Given the description of an element on the screen output the (x, y) to click on. 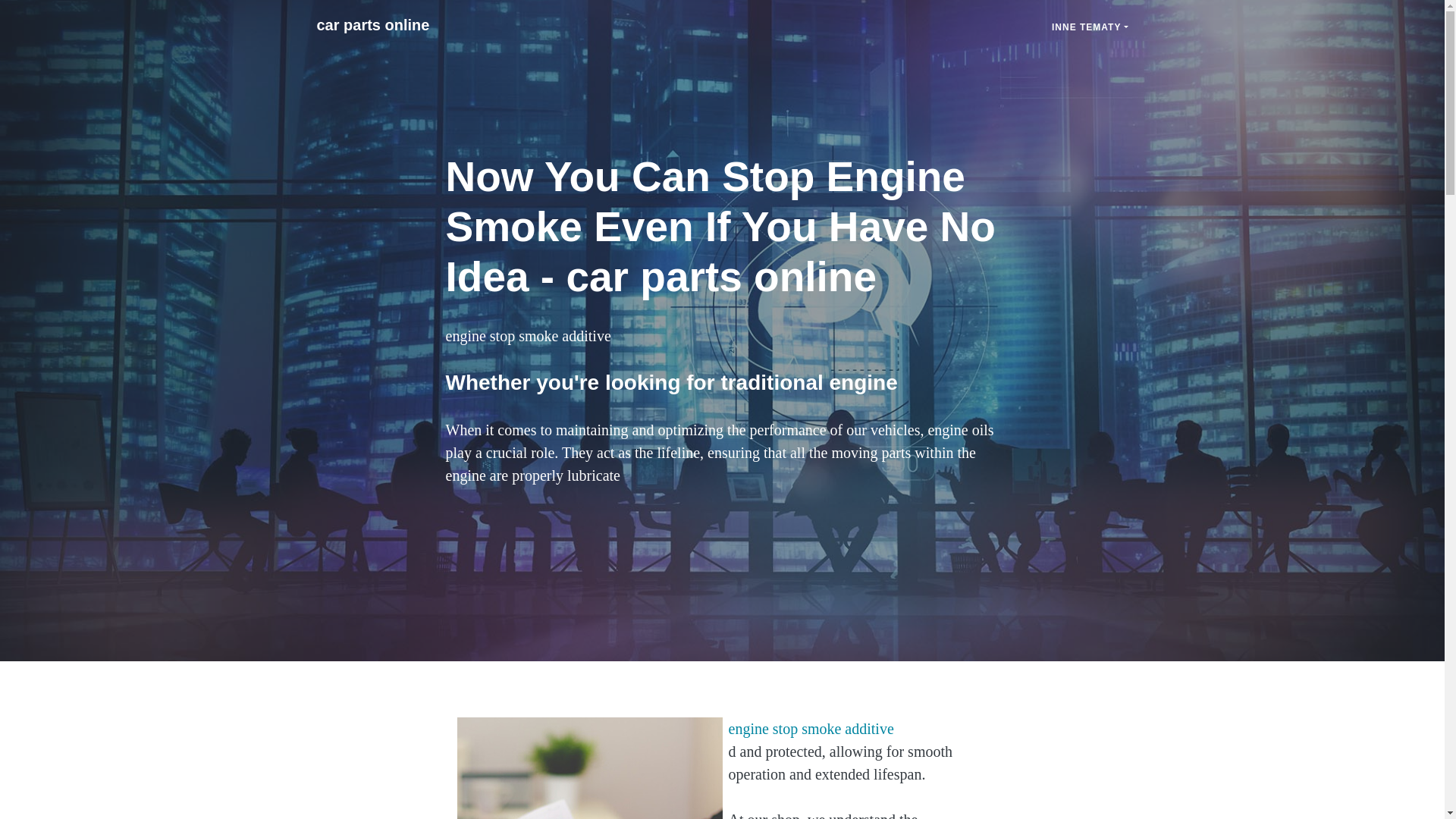
INNE TEMATY (1089, 27)
car parts online (373, 24)
